Given the description of an element on the screen output the (x, y) to click on. 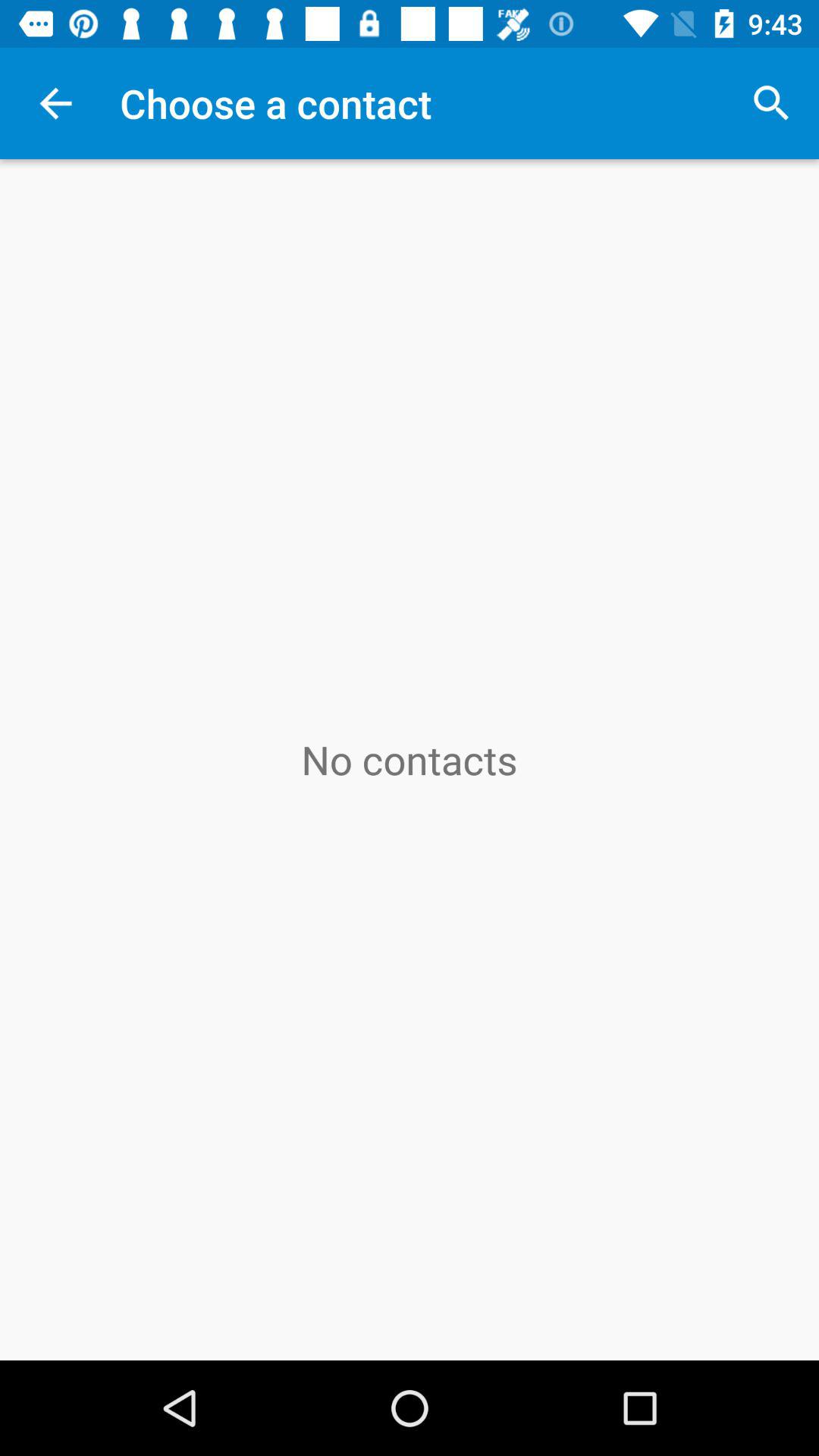
press icon at the top right corner (771, 103)
